Given the description of an element on the screen output the (x, y) to click on. 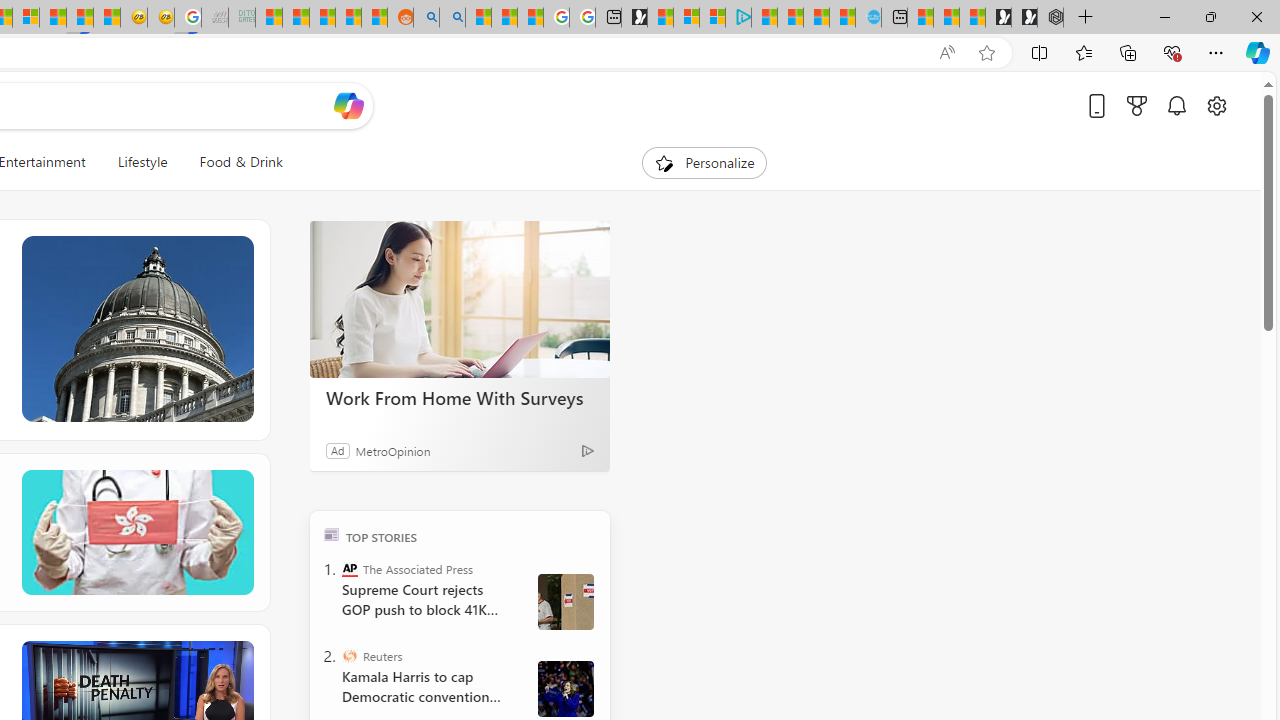
Utah sues federal government - Search (452, 17)
Work From Home With Surveys (459, 397)
The Associated Press (349, 568)
